Given the description of an element on the screen output the (x, y) to click on. 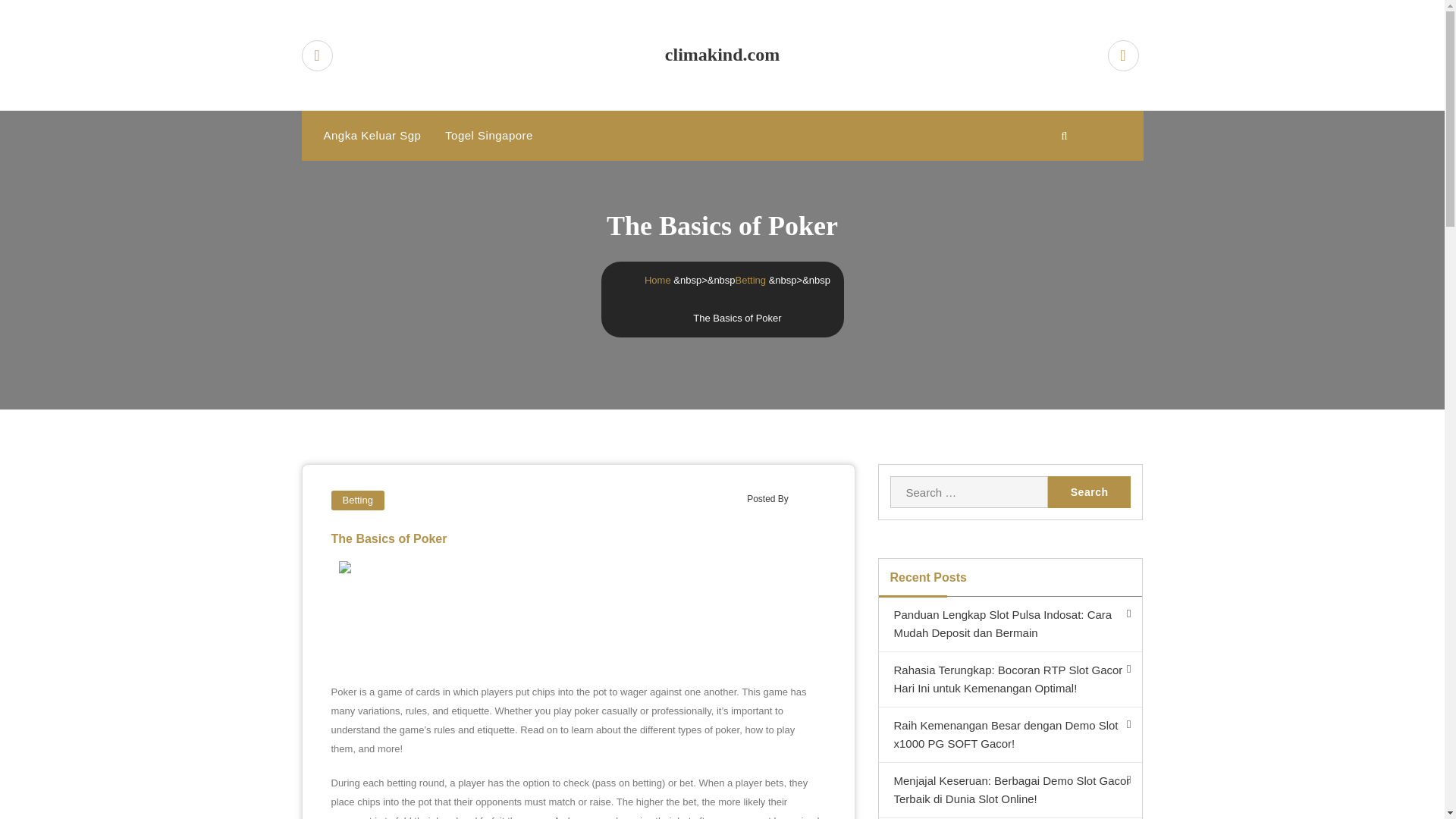
Togel Singapore (488, 135)
Search (1089, 491)
Betting (750, 279)
Raih Kemenangan Besar dengan Demo Slot x1000 PG SOFT Gacor! (1009, 734)
Angka Keluar Sgp (371, 135)
Betting (357, 500)
Search (1089, 491)
